Given the description of an element on the screen output the (x, y) to click on. 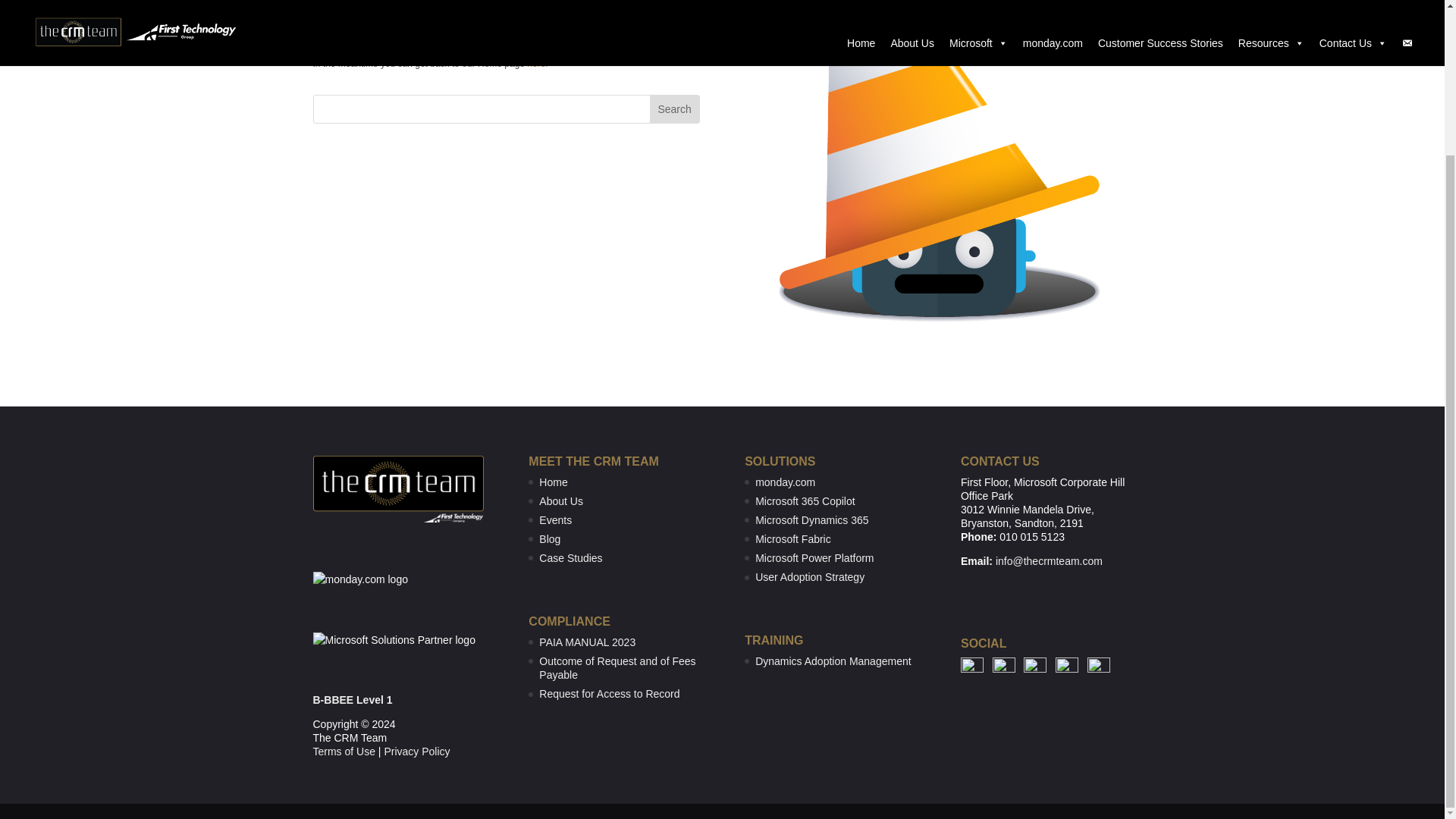
Search (673, 108)
here. (537, 63)
Events (555, 520)
Search (673, 108)
About Us (560, 500)
Robot-guy (937, 172)
Home (552, 481)
Case Studies (570, 558)
Privacy Policy (416, 751)
Blog (549, 539)
